Given the description of an element on the screen output the (x, y) to click on. 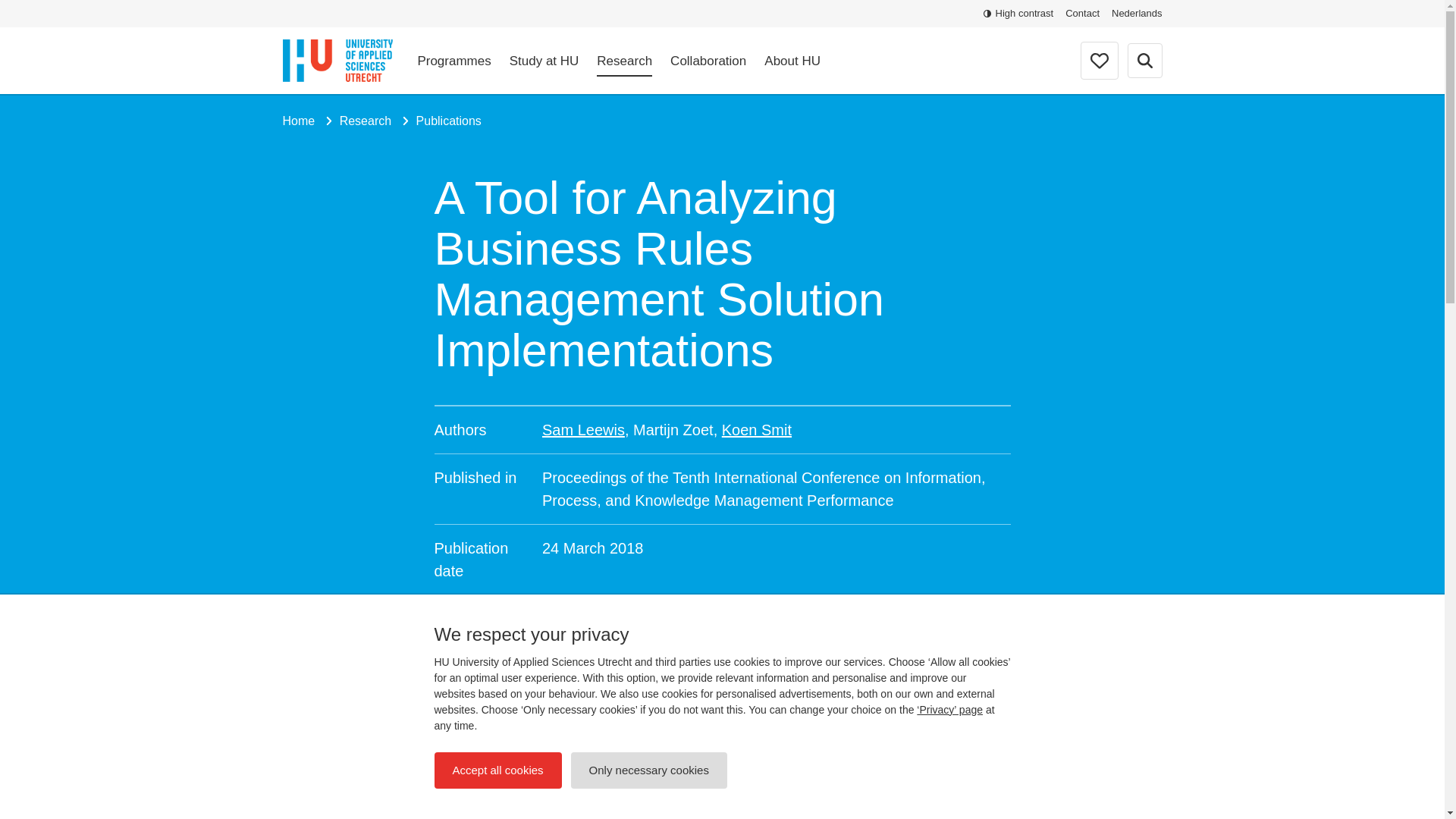
Research (624, 60)
High contrast (1019, 13)
Accept all cookies (496, 770)
Nederlands (1136, 13)
Contact (1082, 13)
Programmes (453, 60)
Study at HU (544, 60)
Only necessary cookies (648, 770)
